Given the description of an element on the screen output the (x, y) to click on. 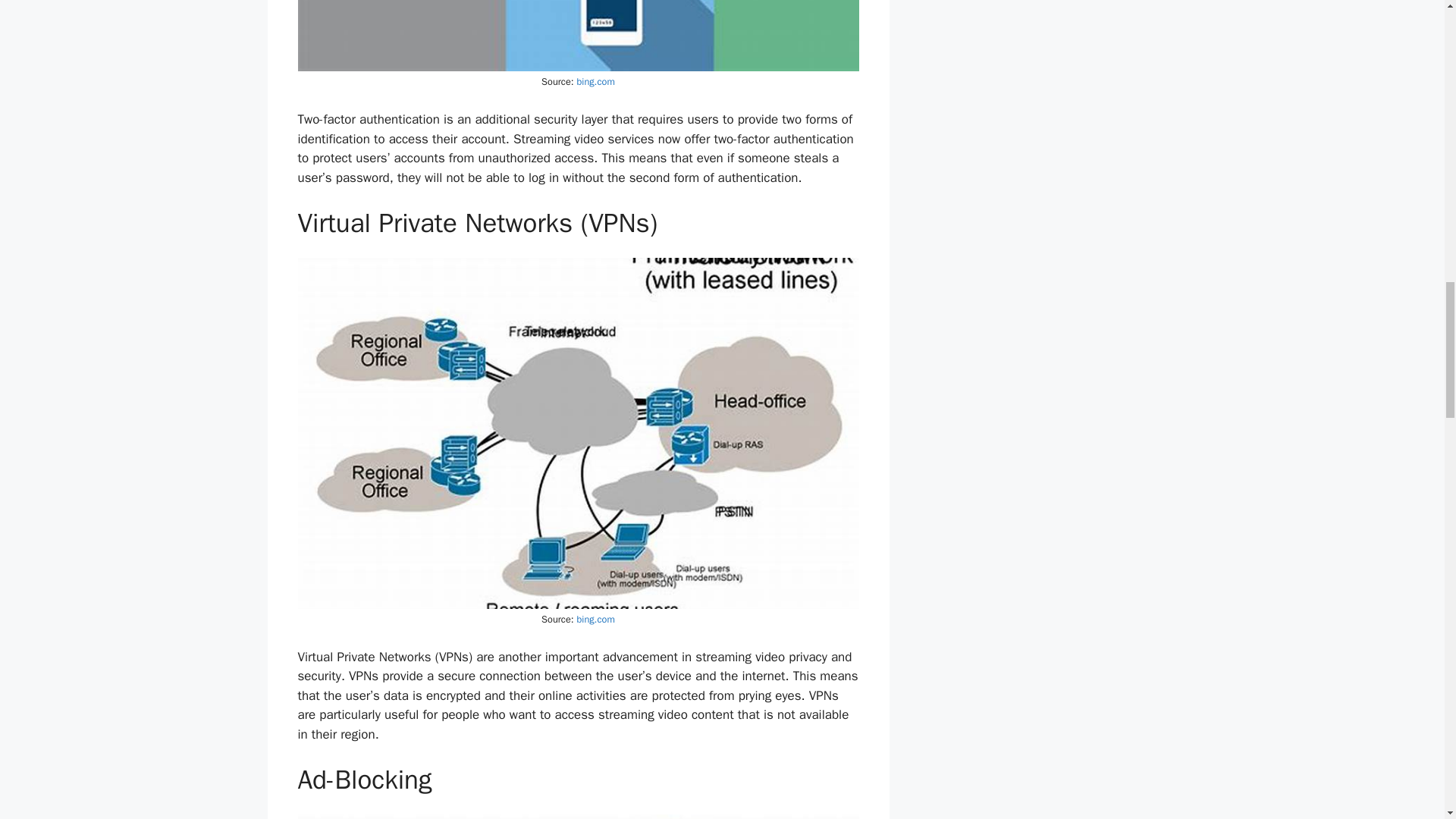
bing.com (595, 81)
bing.com (595, 619)
